Given the description of an element on the screen output the (x, y) to click on. 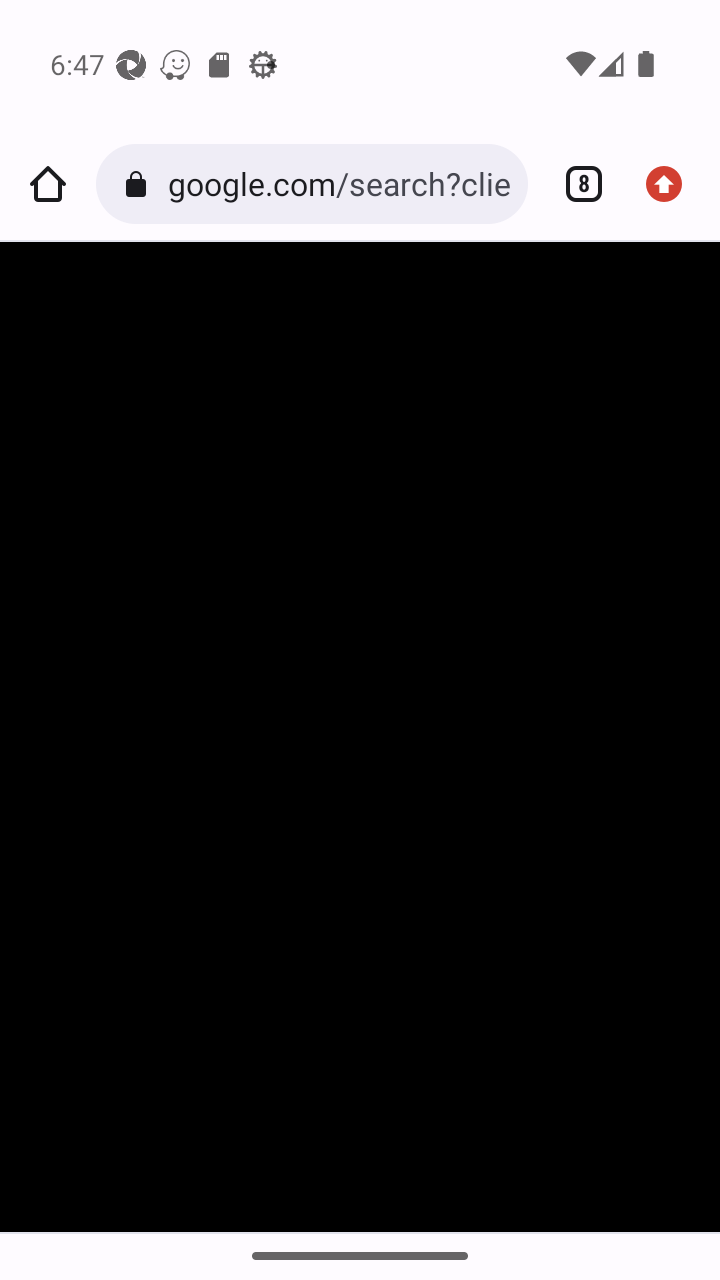
Home (47, 184)
Connection is secure (139, 184)
Switch or close tabs (575, 184)
Update available. More options (672, 184)
